Given the description of an element on the screen output the (x, y) to click on. 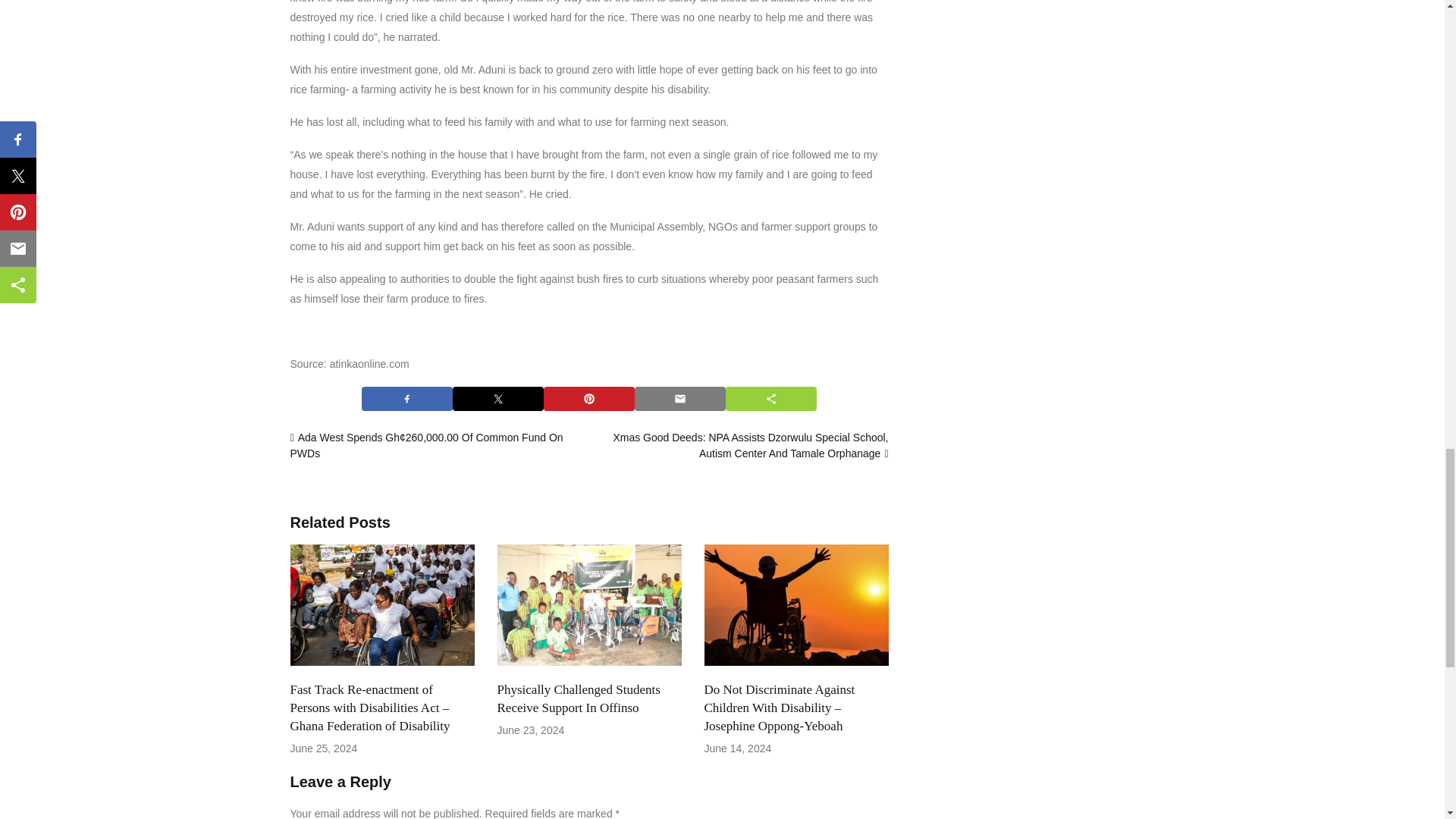
Physically Challenged Students Receive Support In Offinso (589, 604)
Physically Challenged Students Receive Support In Offinso (579, 698)
